Given the description of an element on the screen output the (x, y) to click on. 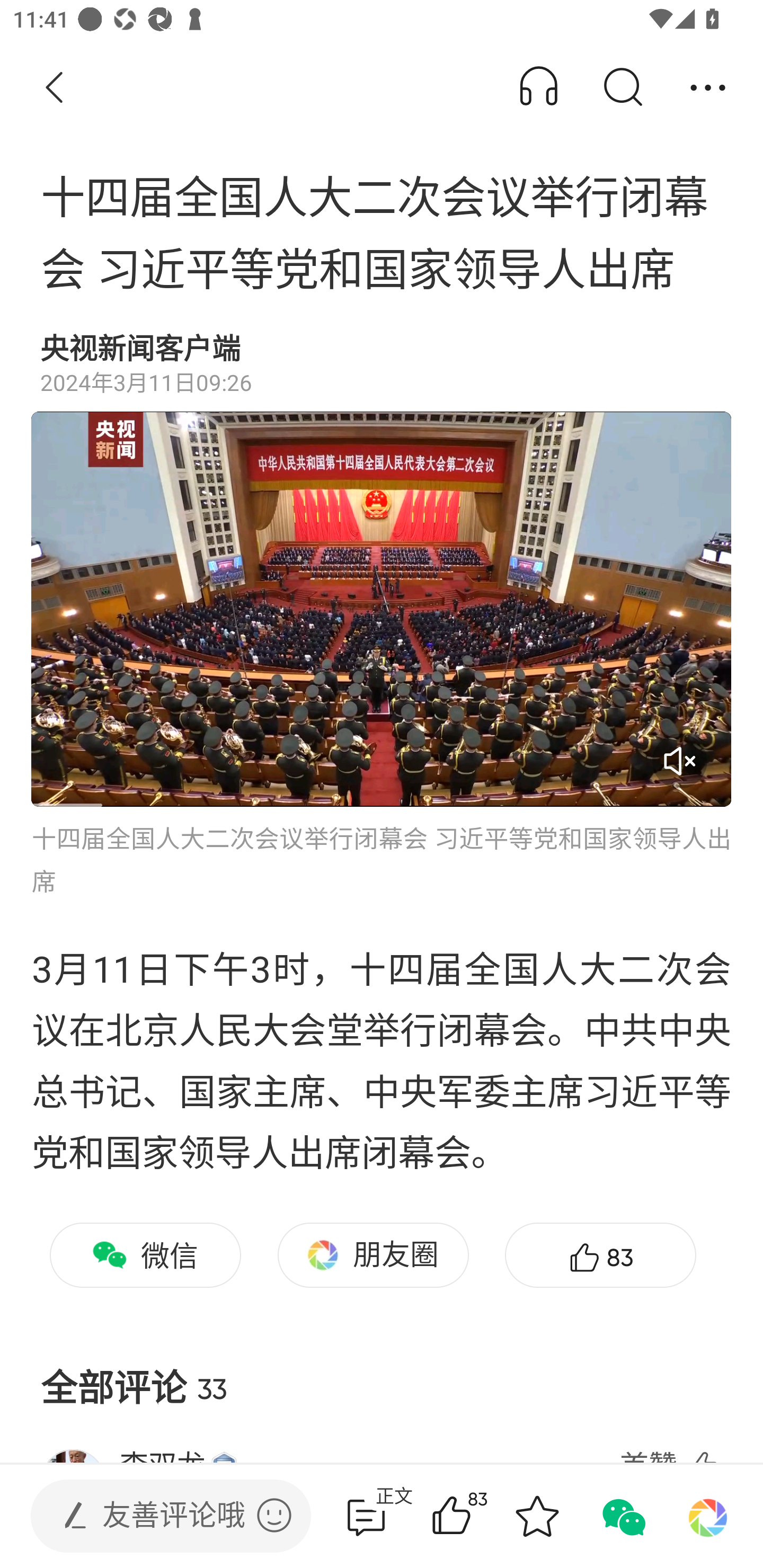
搜索  (622, 87)
分享  (707, 87)
 返回 (54, 87)
央视新闻客户端 2024年3月11日09:26 (381, 364)
00:47 (381, 608)
音量开关 (679, 760)
微信 分享到微信 (145, 1255)
朋友圈 分享到朋友圈 (373, 1255)
83赞 (600, 1255)
全部评论 33 (381, 1373)
发表评论  友善评论哦 发表评论  (155, 1516)
33评论  正文 正文 (365, 1516)
83赞 (476, 1516)
收藏  (536, 1516)
分享到微信  (622, 1516)
分享到朋友圈 (707, 1516)
 (274, 1515)
